Given the description of an element on the screen output the (x, y) to click on. 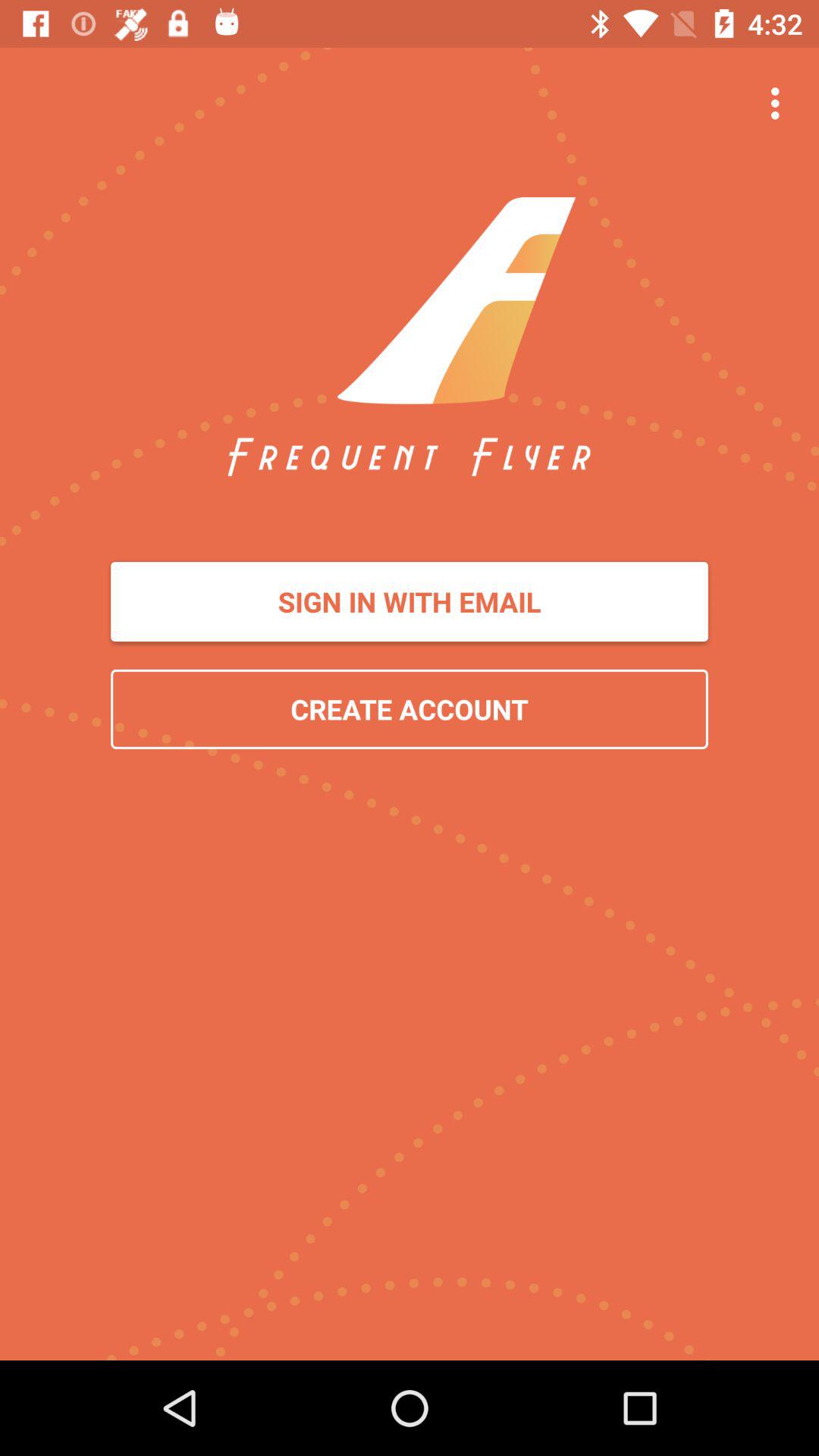
swipe until the sign in with item (409, 601)
